Given the description of an element on the screen output the (x, y) to click on. 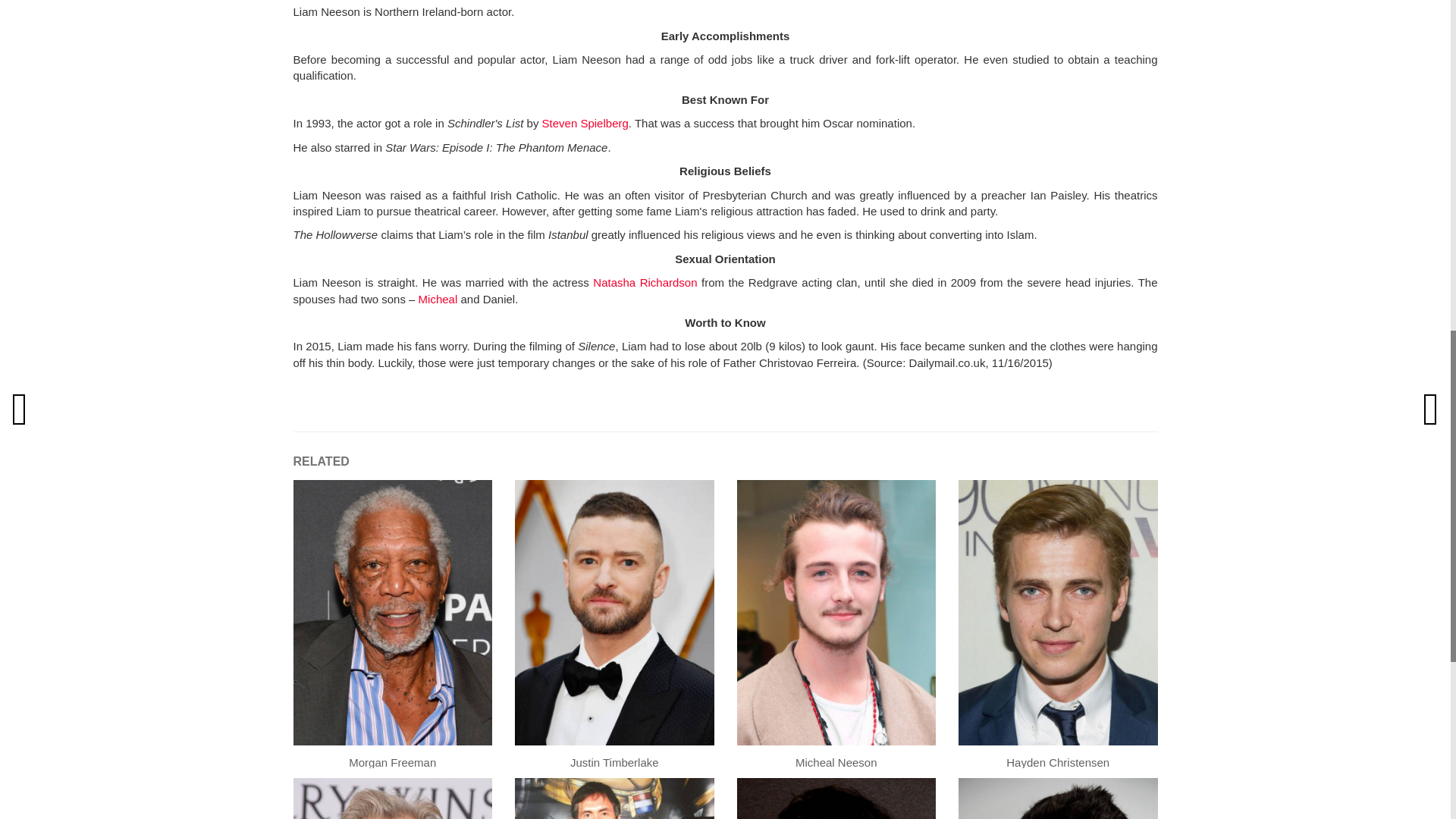
Steven Spielberg (584, 123)
